Given the description of an element on the screen output the (x, y) to click on. 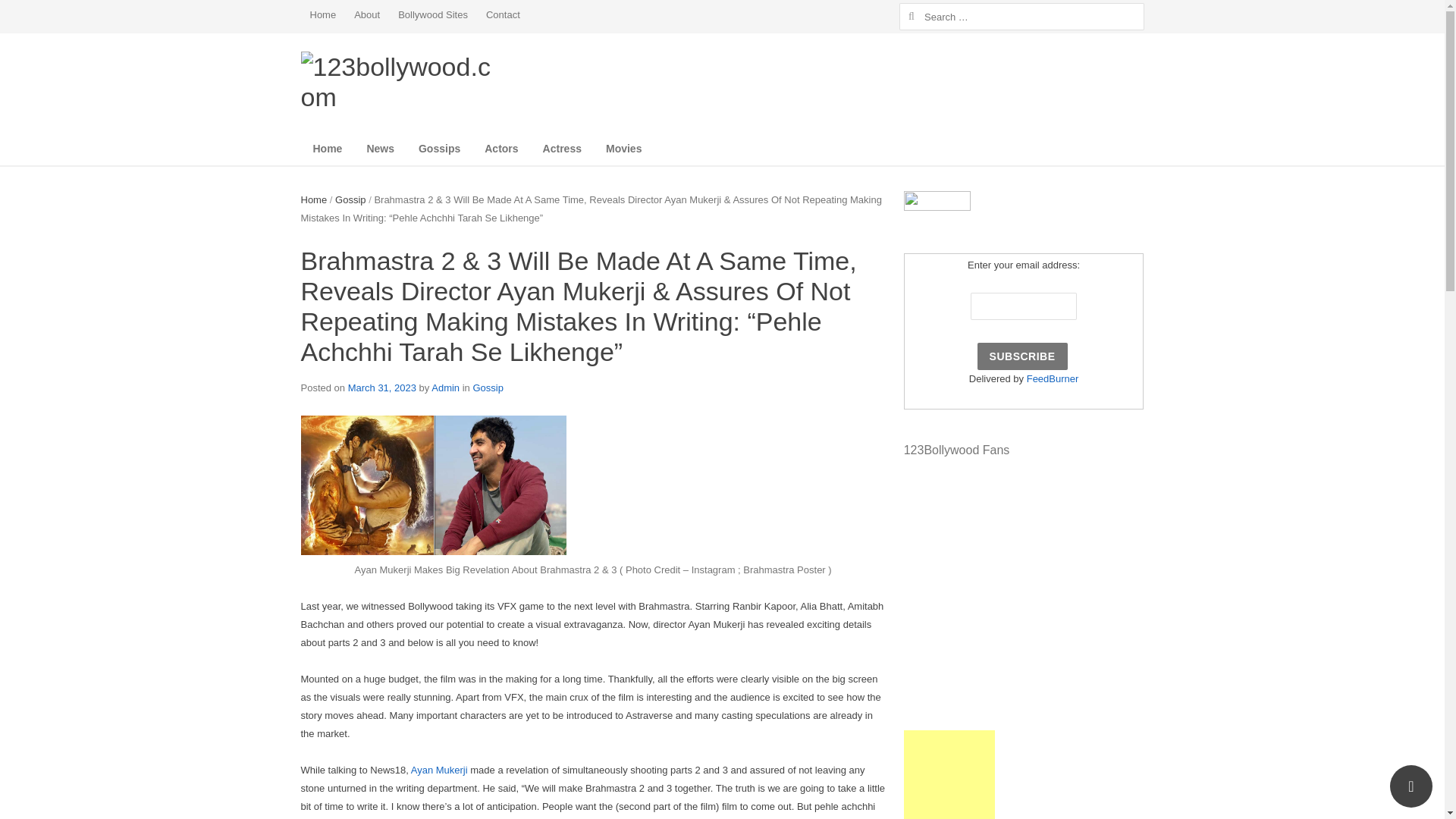
Gossip Element type: text (350, 199)
Actress Element type: text (561, 148)
Actors Element type: text (501, 148)
Top Element type: text (1411, 786)
March 31, 2023 Element type: text (382, 387)
123bollywood.com Element type: hover (399, 81)
Home Element type: text (322, 15)
Home Element type: text (313, 199)
Home Element type: text (327, 148)
Subscribe Element type: text (1022, 356)
Search Element type: text (35, 13)
Admin Element type: text (445, 387)
News Element type: text (380, 148)
Contact Element type: text (502, 15)
About Element type: text (367, 15)
Gossip Element type: text (487, 387)
Movies Element type: text (623, 148)
FeedBurner Element type: text (1052, 378)
Ayan Mukerji Element type: text (439, 769)
Gossips Element type: text (439, 148)
Bollywood Sites Element type: text (432, 15)
